Given the description of an element on the screen output the (x, y) to click on. 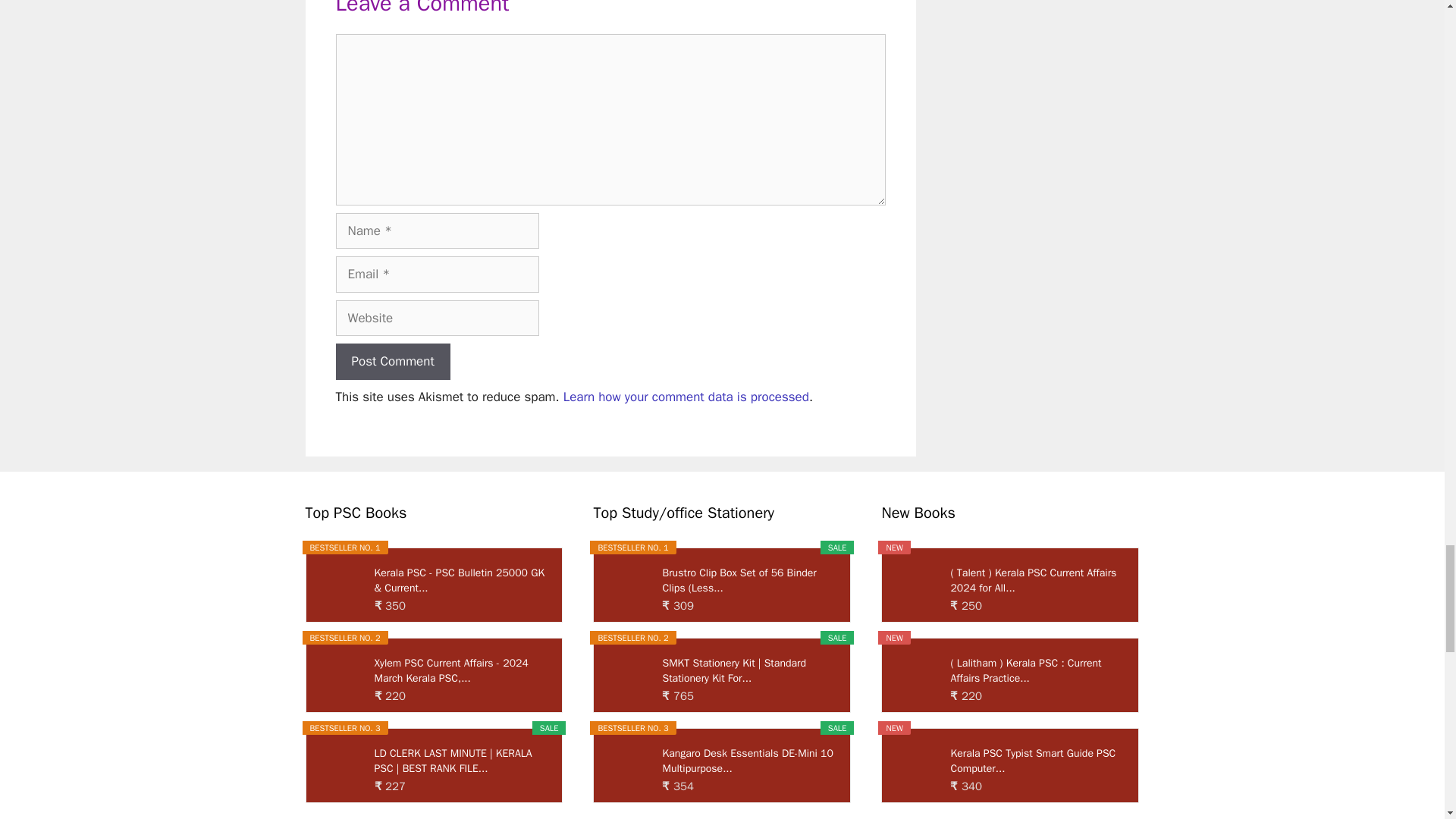
Advertisement (609, 408)
newspaper (662, 79)
KAS (816, 41)
